Given the description of an element on the screen output the (x, y) to click on. 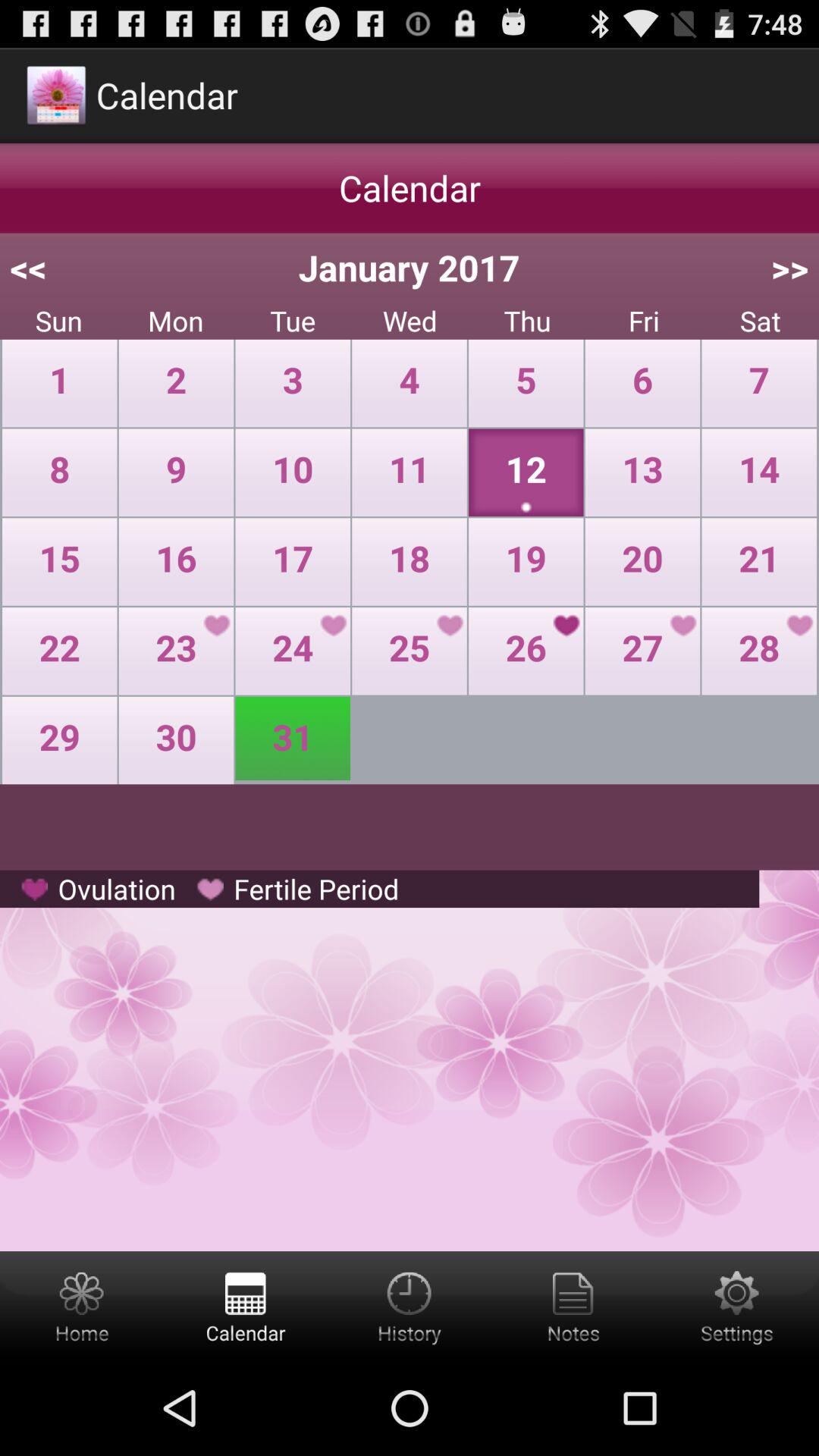
add notes (573, 1305)
